Given the description of an element on the screen output the (x, y) to click on. 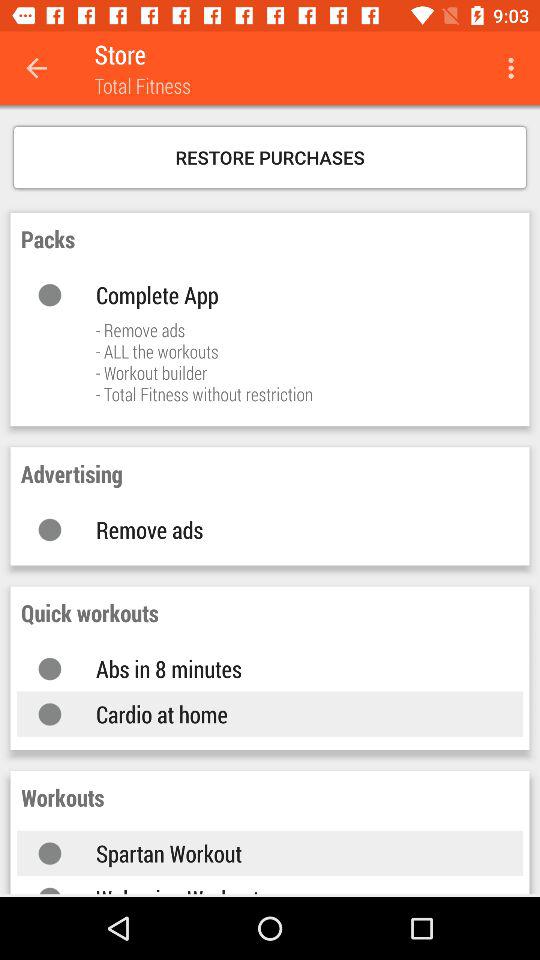
select the icon below abs in 8 (289, 714)
